Given the description of an element on the screen output the (x, y) to click on. 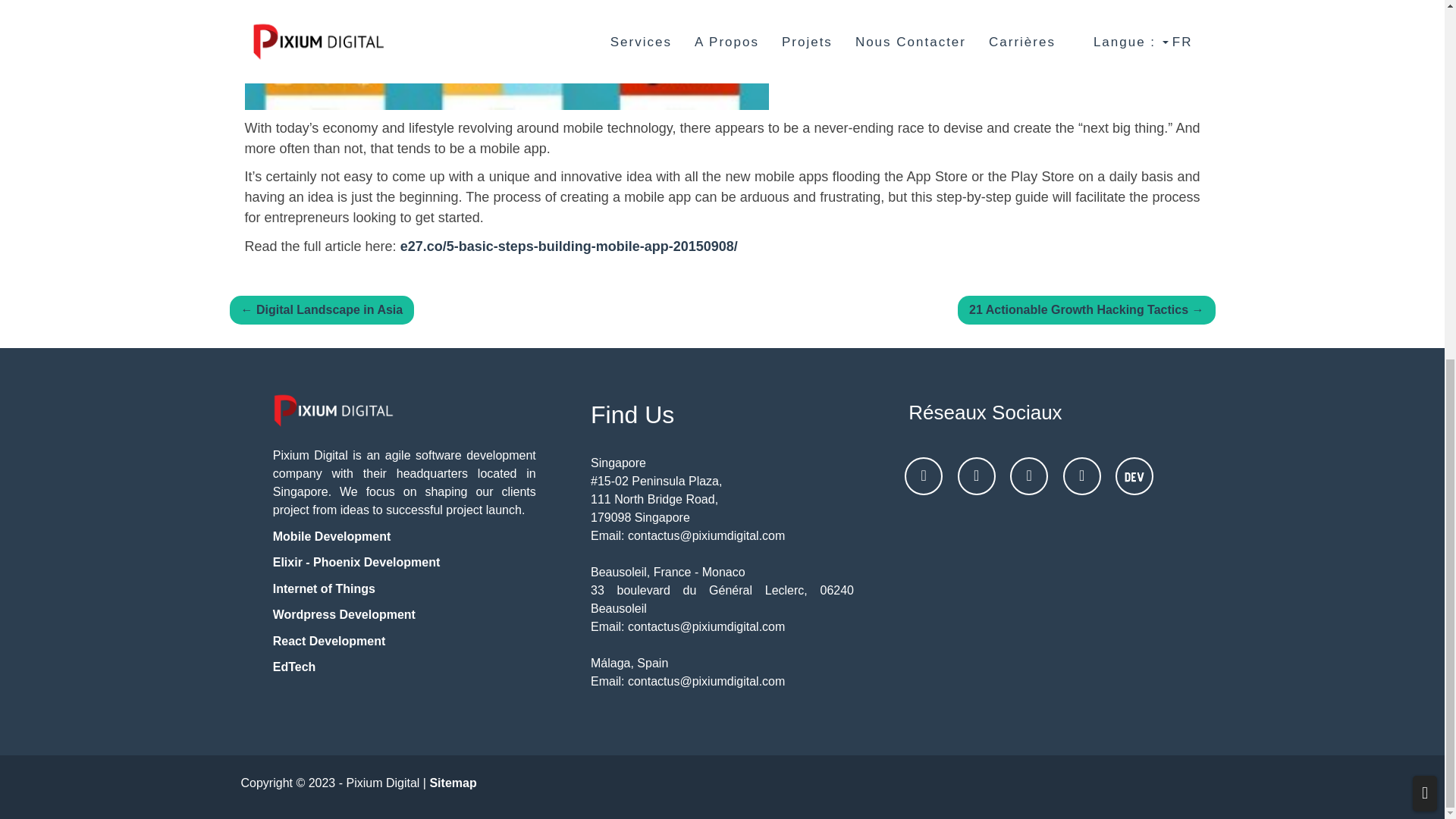
Dribbble (1029, 476)
Elixir - Phoenix Development (357, 562)
Facebook (976, 476)
Twitter (1081, 476)
EdTech (294, 666)
Sitemap (452, 782)
DevTo (1134, 476)
Wordpress Development (343, 614)
LinkedIn (923, 476)
Mobile Development (332, 535)
